Given the description of an element on the screen output the (x, y) to click on. 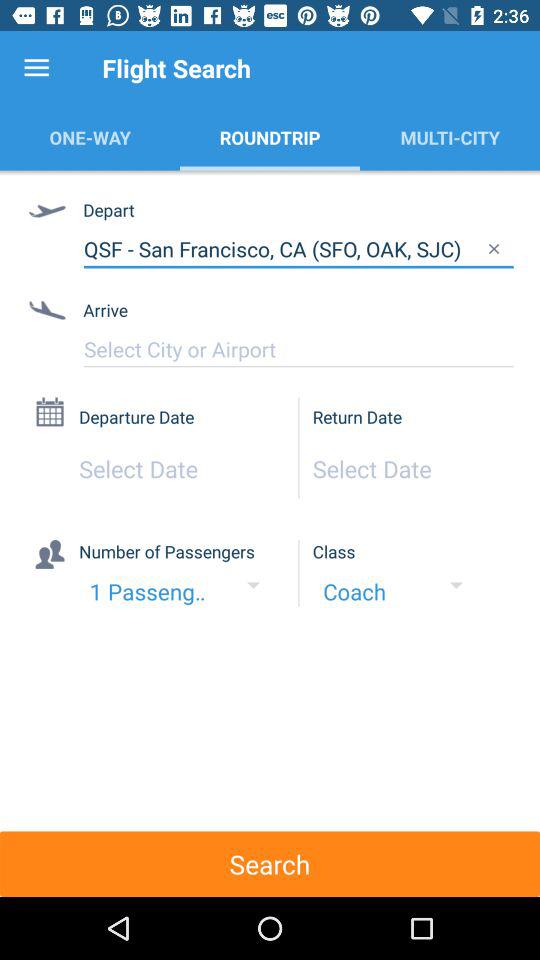
select the icon next to the flight search item (36, 68)
